Given the description of an element on the screen output the (x, y) to click on. 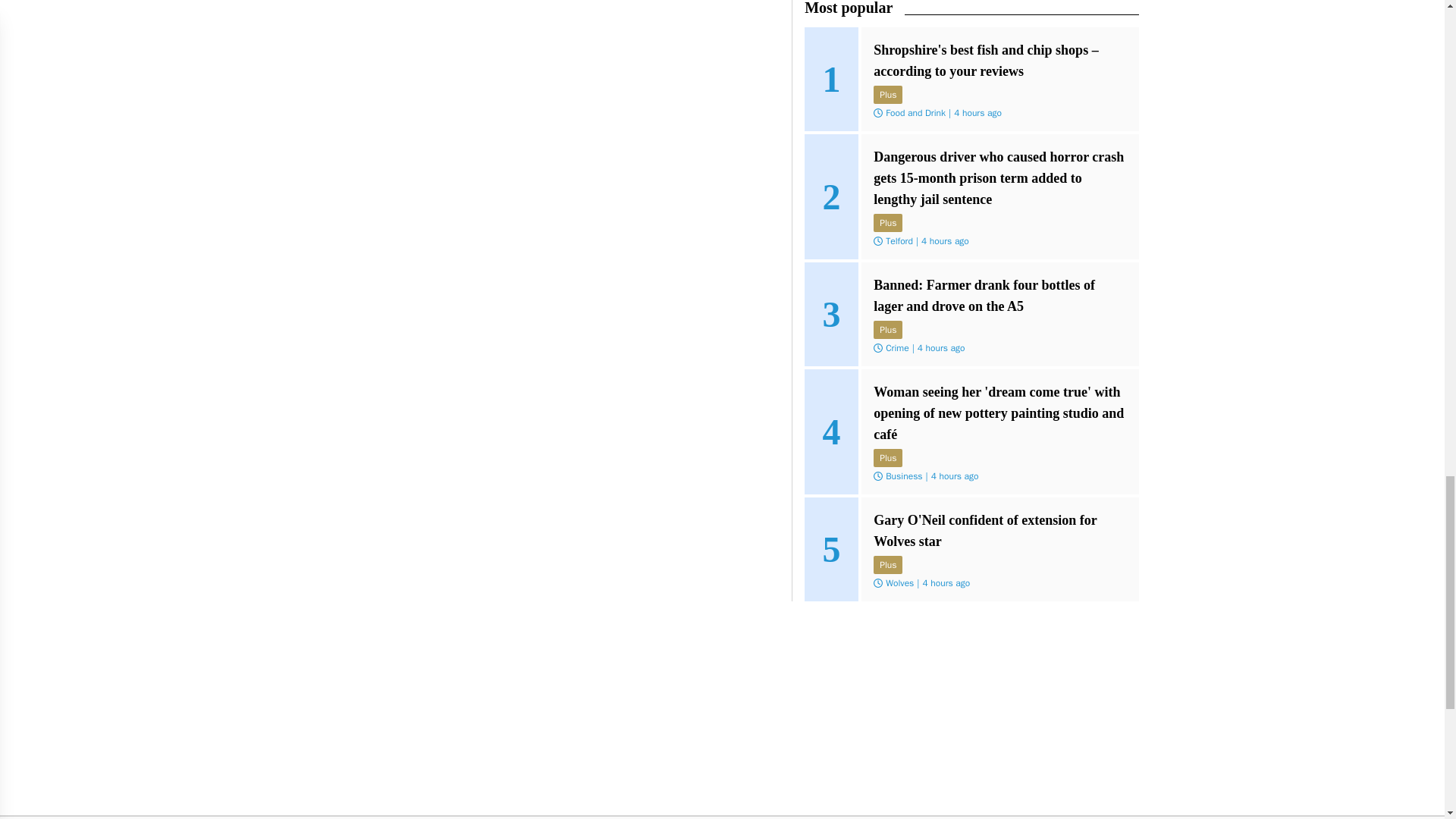
Business (903, 476)
Food and Drink (914, 111)
Crime (896, 346)
Telford (898, 241)
Wolves (899, 582)
